Given the description of an element on the screen output the (x, y) to click on. 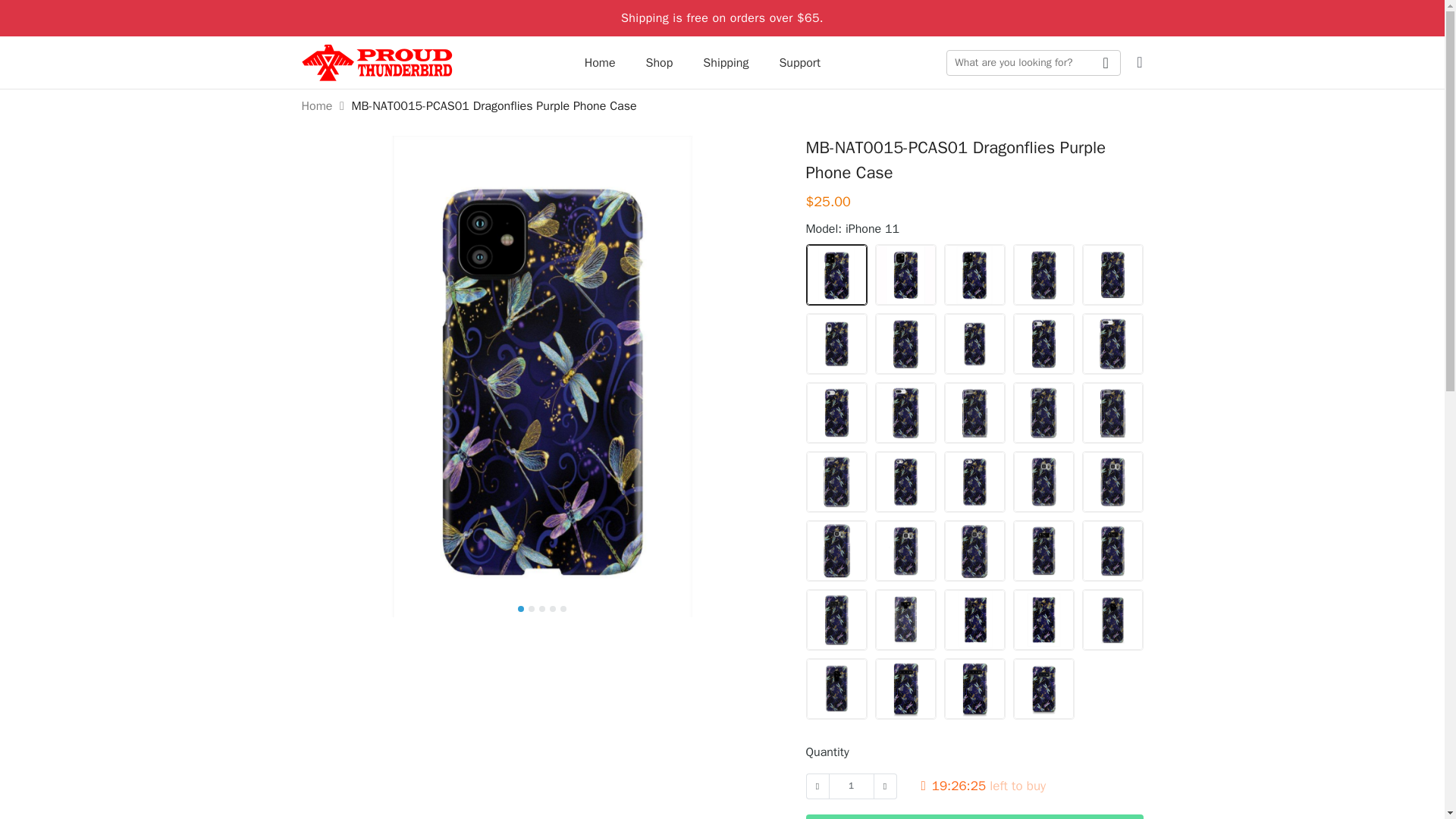
iPhone 11 Pro Max (974, 274)
thunderbird (376, 62)
5 (563, 608)
3 (541, 608)
4 (553, 608)
Shop (659, 62)
Support (799, 62)
iPhone Xs Max (1112, 274)
1 (850, 786)
iPhone 6s Plus (1043, 412)
iPhone SE (974, 343)
iPhone Xs (1043, 274)
iPhone Xr (836, 343)
iPhone 6s (974, 412)
iPhone 5 (904, 481)
